Given the description of an element on the screen output the (x, y) to click on. 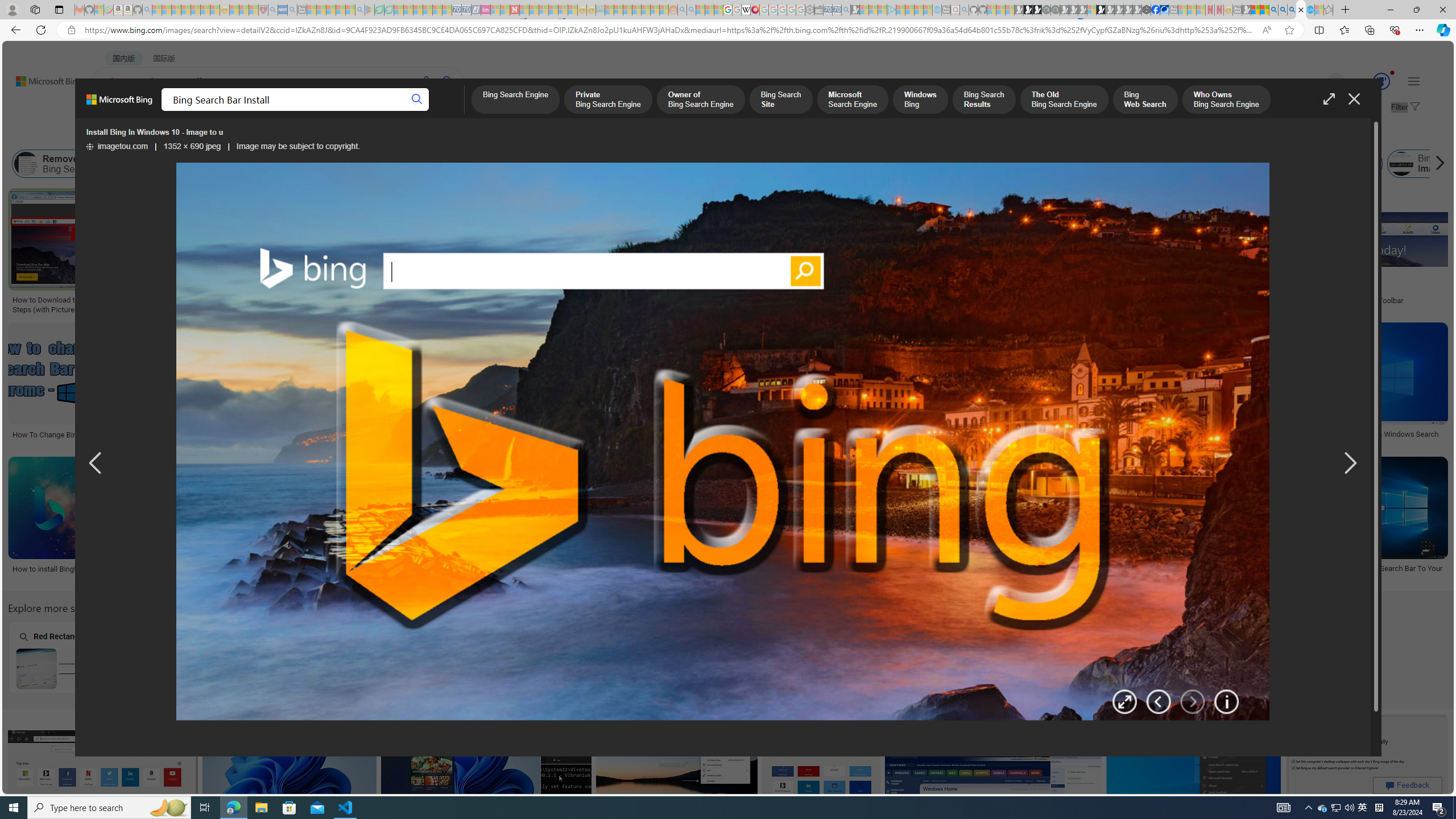
Bing Bar Download (1242, 163)
Bing Desktop Search Bar (268, 163)
MY BING (156, 111)
Type (212, 135)
utah sues federal government - Search - Sleeping (291, 9)
Type (212, 135)
2009 Bing officially replaced Live Search on June 3 - Search (1283, 9)
